Given the description of an element on the screen output the (x, y) to click on. 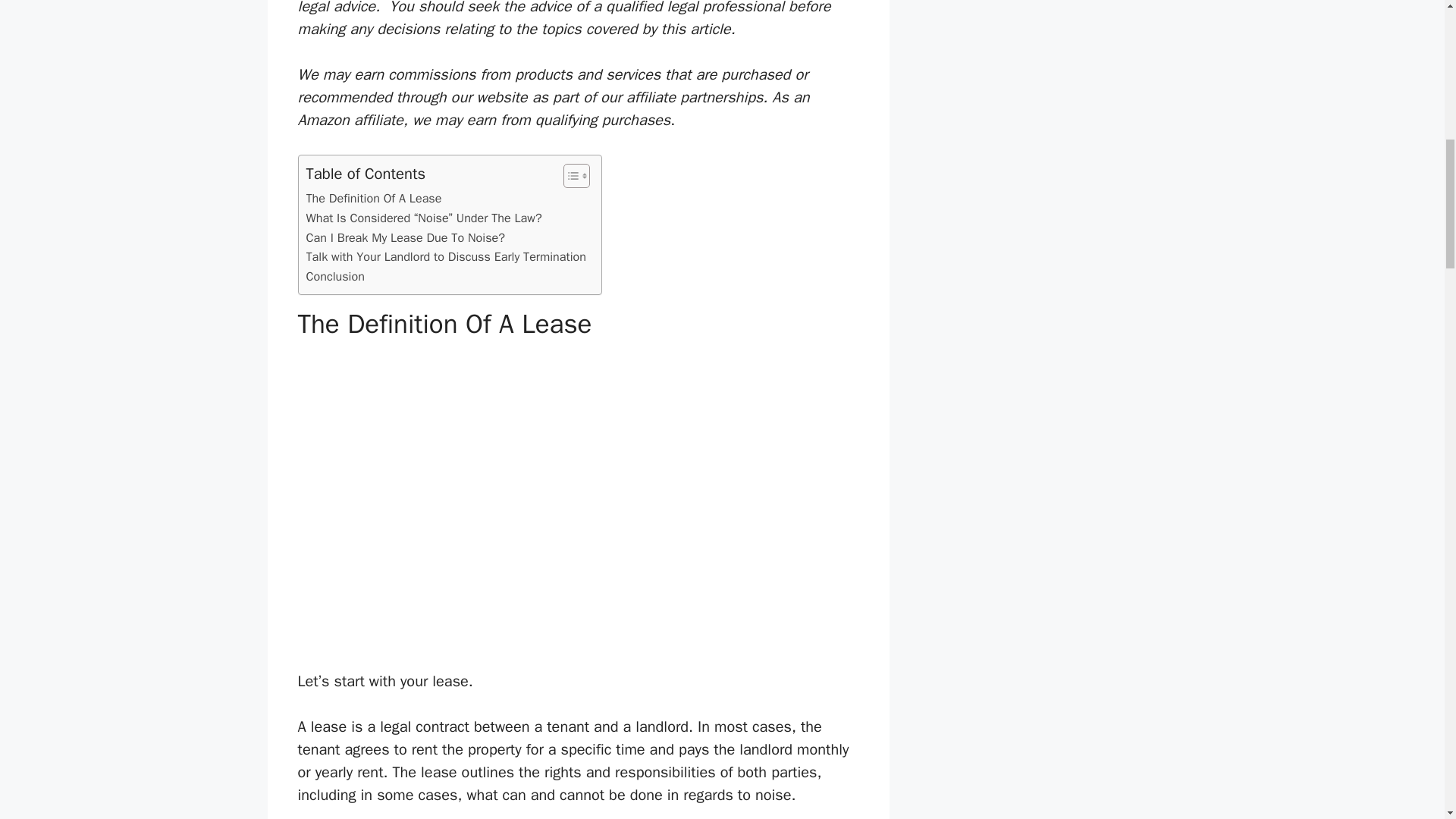
Conclusion (335, 276)
Talk with Your Landlord to Discuss Early Termination (445, 256)
The Definition Of A Lease (373, 198)
Talk with Your Landlord to Discuss Early Termination (445, 256)
Can I Break My Lease Due To Noise? (405, 238)
Conclusion (335, 276)
Can I Break My Lease Due To Noise? (405, 238)
The Definition Of A Lease (373, 198)
